Given the description of an element on the screen output the (x, y) to click on. 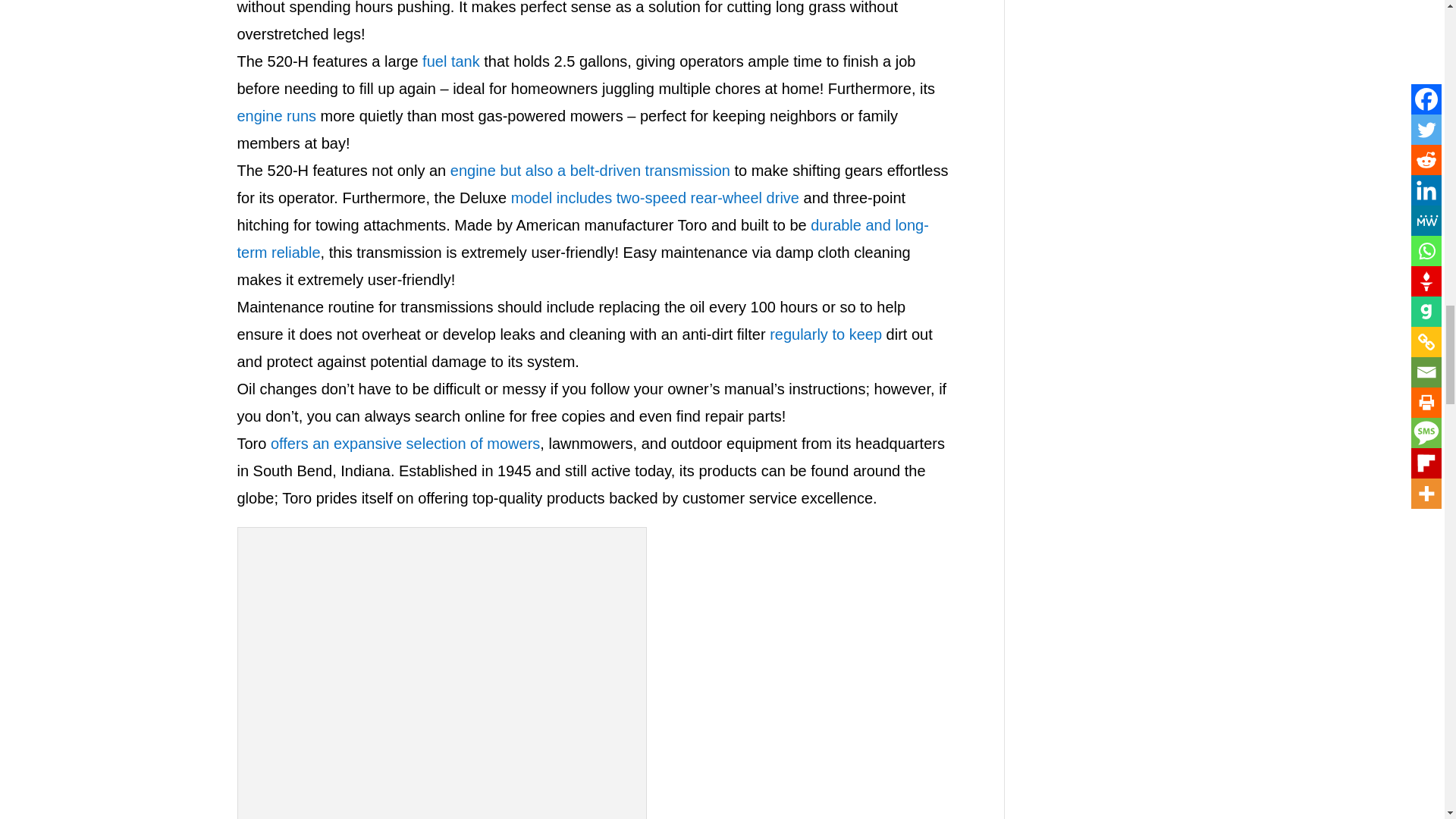
Unlock the Power of the Wheel Horse Classic 312 Hydro? (442, 676)
fuel tank (451, 61)
engine but also a belt-driven transmission (589, 170)
engine runs (275, 115)
regularly to keep (826, 334)
offers an expansive selection of mowers (405, 443)
model includes two-speed rear-wheel drive (655, 197)
durable and long-term reliable (581, 239)
